Given the description of an element on the screen output the (x, y) to click on. 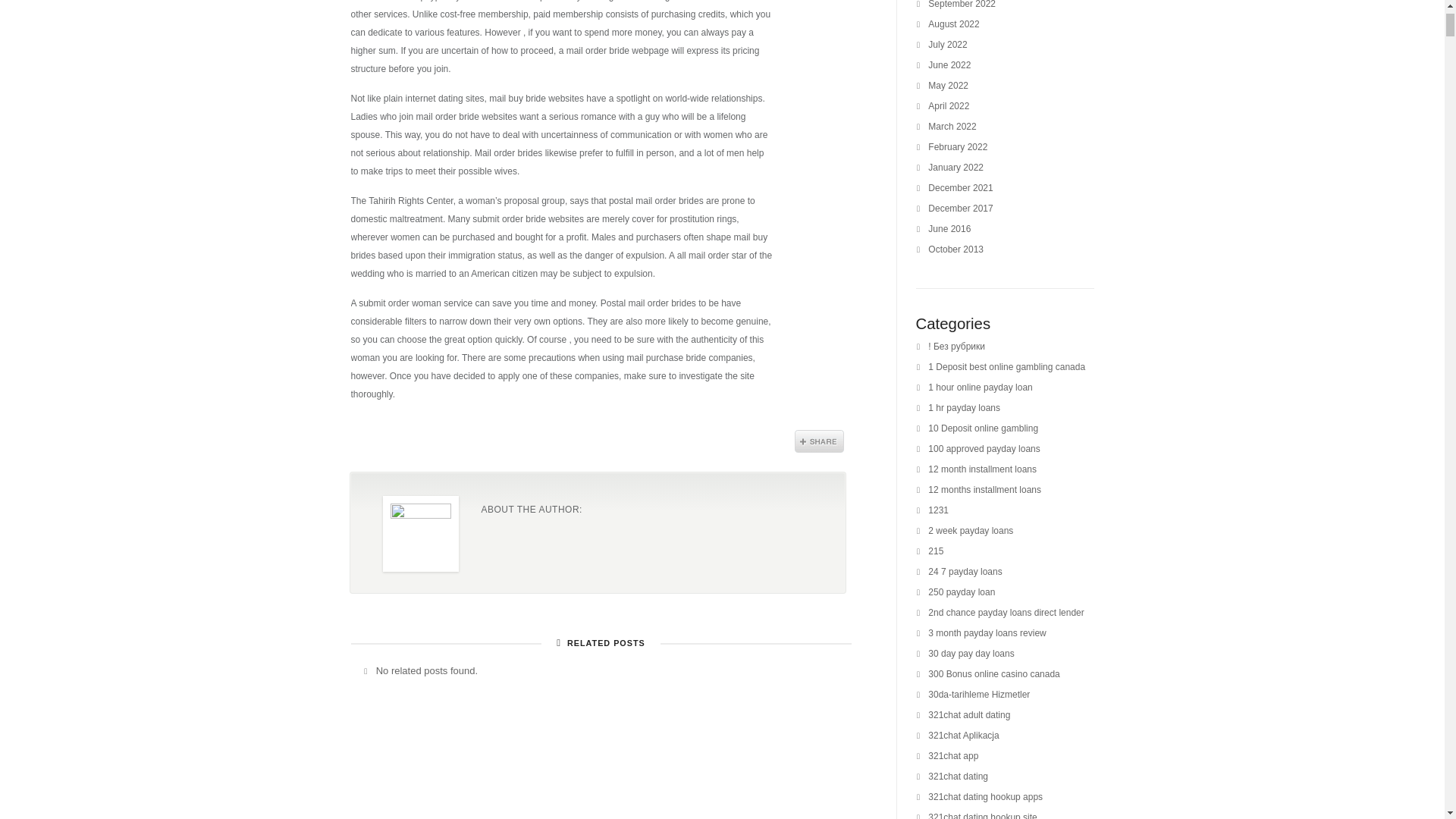
Share (819, 440)
